Given the description of an element on the screen output the (x, y) to click on. 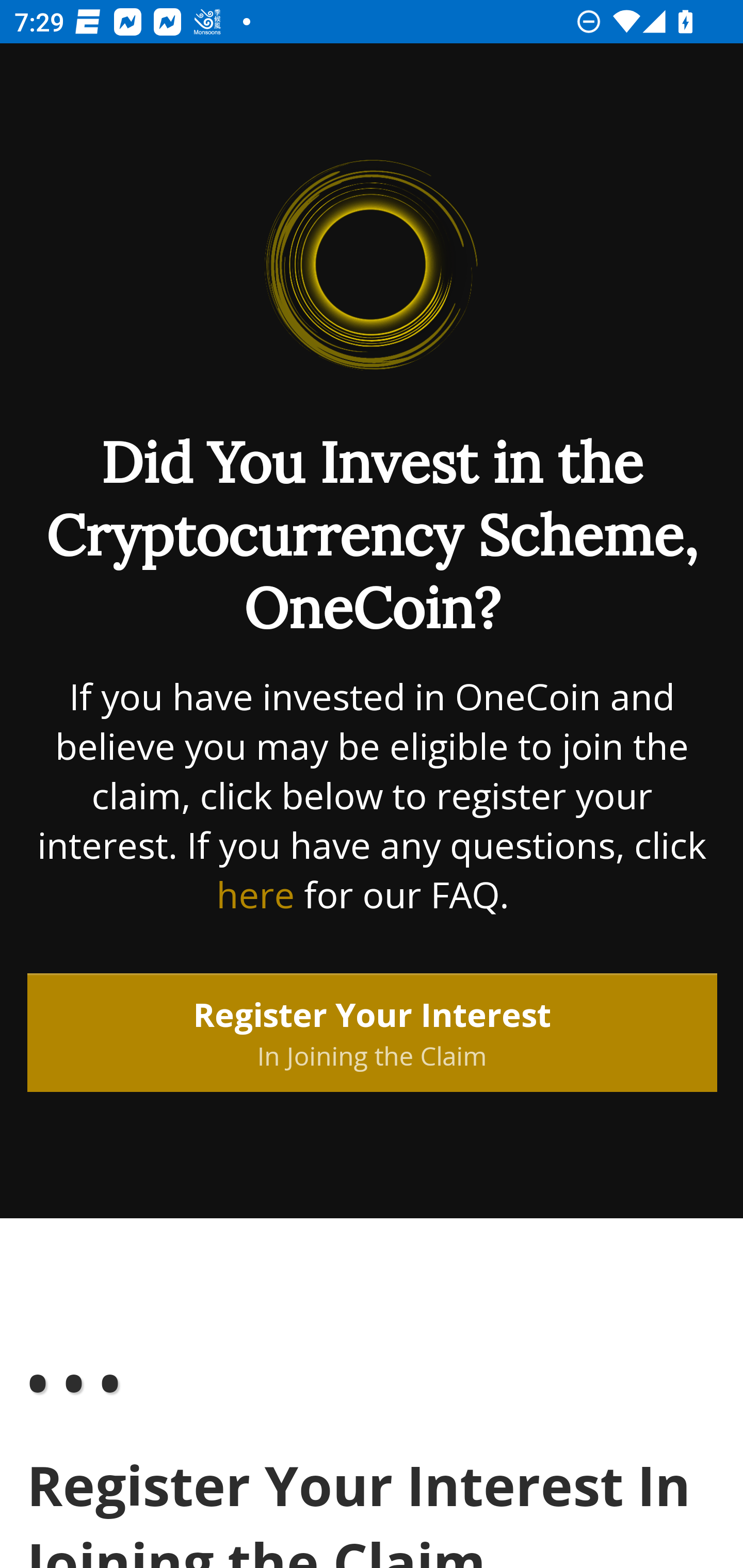
here (255, 895)
